Given the description of an element on the screen output the (x, y) to click on. 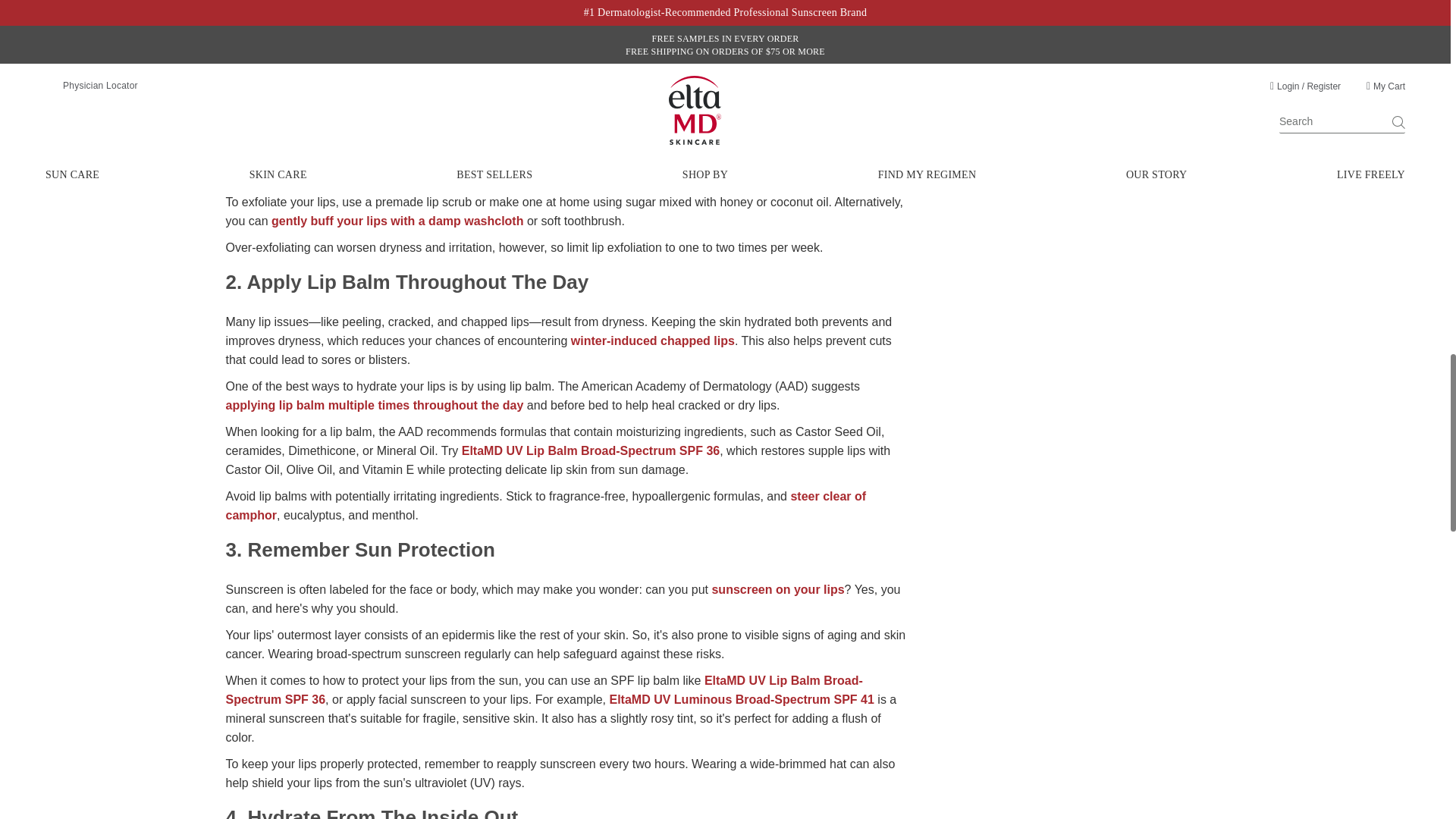
EltaMD UV Lip Balm Broad-Spectrum SPF 36 (544, 689)
winter-induced chapped lips (652, 340)
sunscreen on your lips (777, 589)
EltaMD UV Lip Balm Broad-Spectrum SPF 36 (590, 450)
your regular skin care routine (624, 43)
steer clear of camphor (545, 505)
applying lip balm multiple times throughout the day (374, 404)
EltaMD UV Luminous Broad-Spectrum SPF 41 (742, 698)
gently buff your lips with a damp washcloth (396, 220)
